Given the description of an element on the screen output the (x, y) to click on. 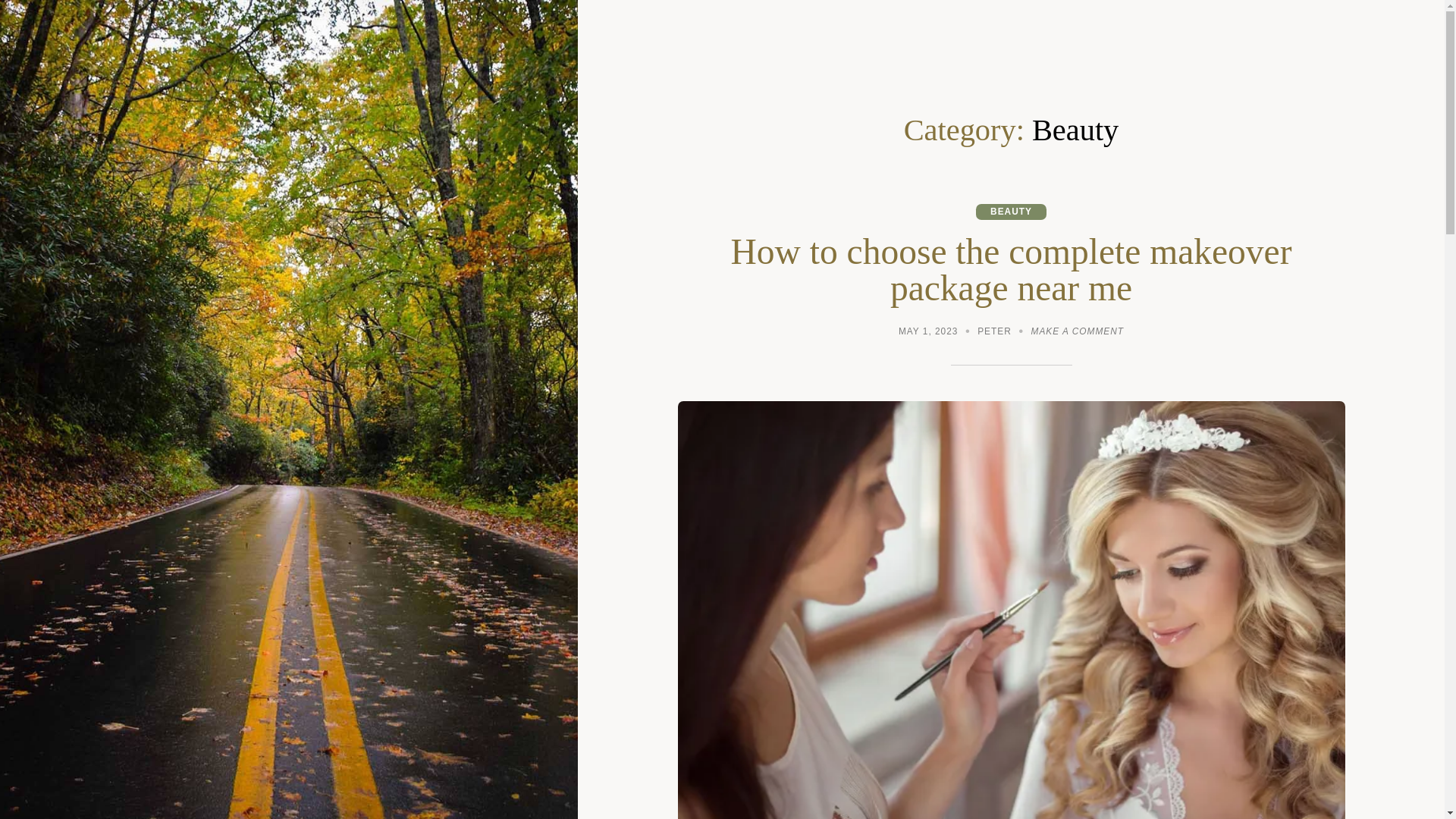
How to choose the complete makeover package near me (1011, 269)
MAY 1, 2023 (928, 332)
BEAUTY (1010, 211)
PETER (993, 332)
